Given the description of an element on the screen output the (x, y) to click on. 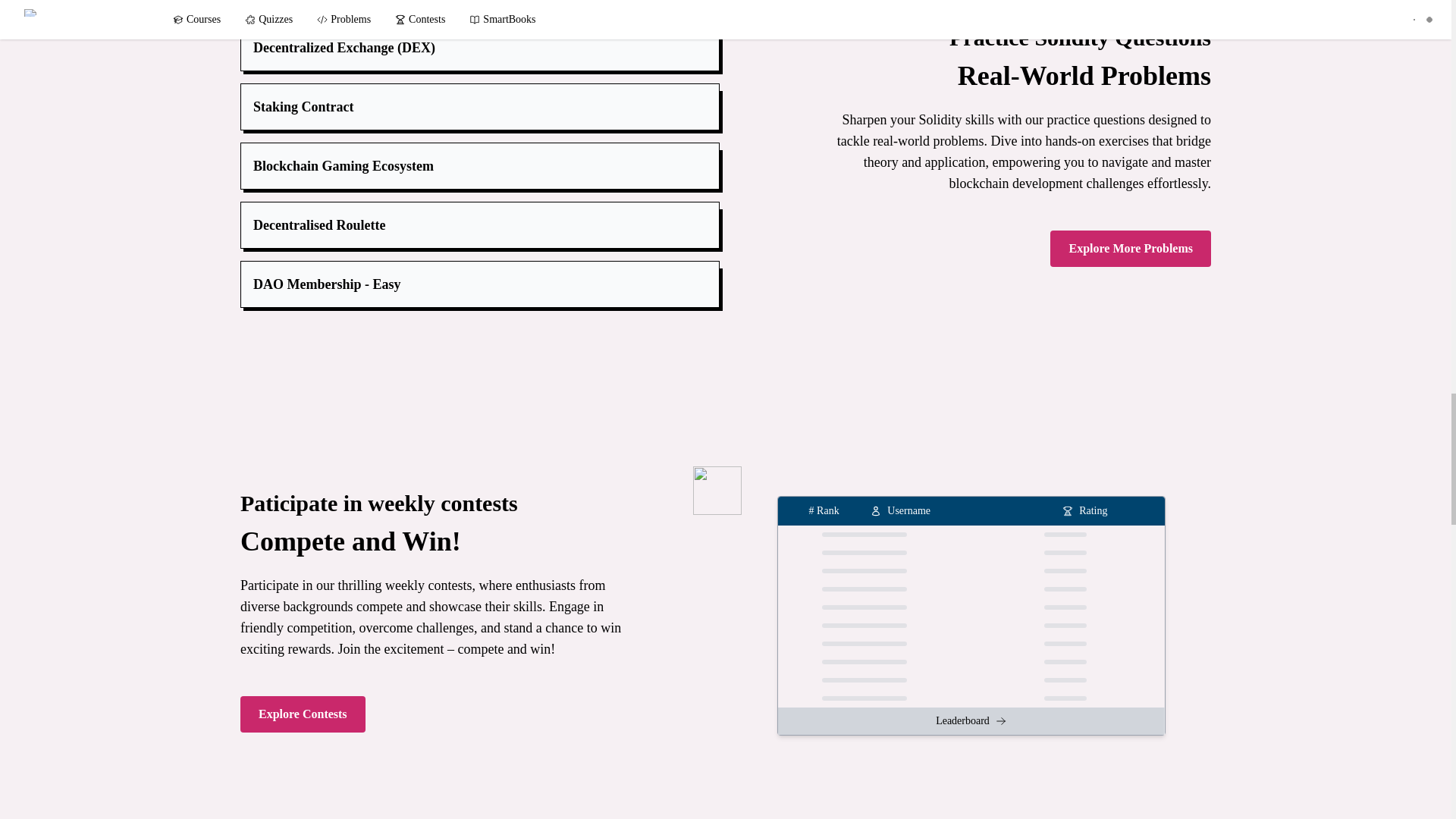
Explore Contests (302, 714)
Leaderboard (970, 720)
Explore More Problems (1130, 248)
